Given the description of an element on the screen output the (x, y) to click on. 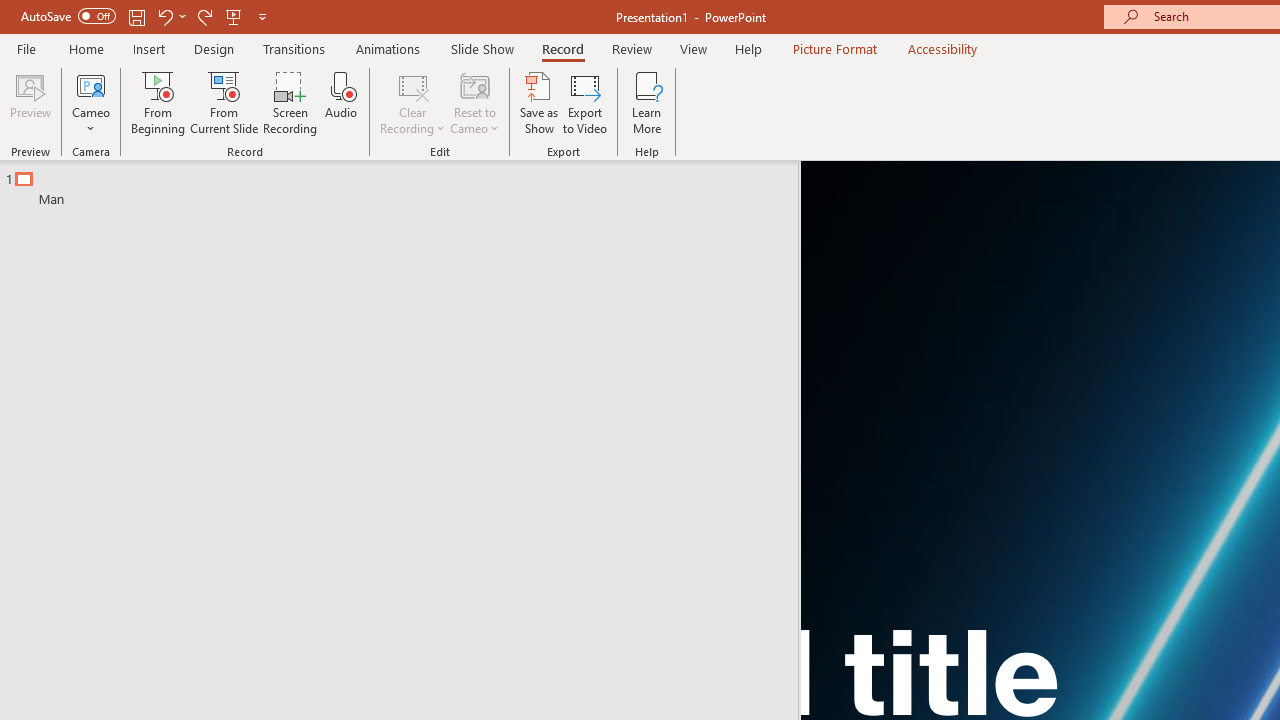
Save as Show (539, 102)
Export to Video (585, 102)
View (693, 48)
Customize Quick Access Toolbar (262, 15)
Screen Recording (290, 102)
Transitions (294, 48)
Audio (341, 102)
Save (136, 15)
